Given the description of an element on the screen output the (x, y) to click on. 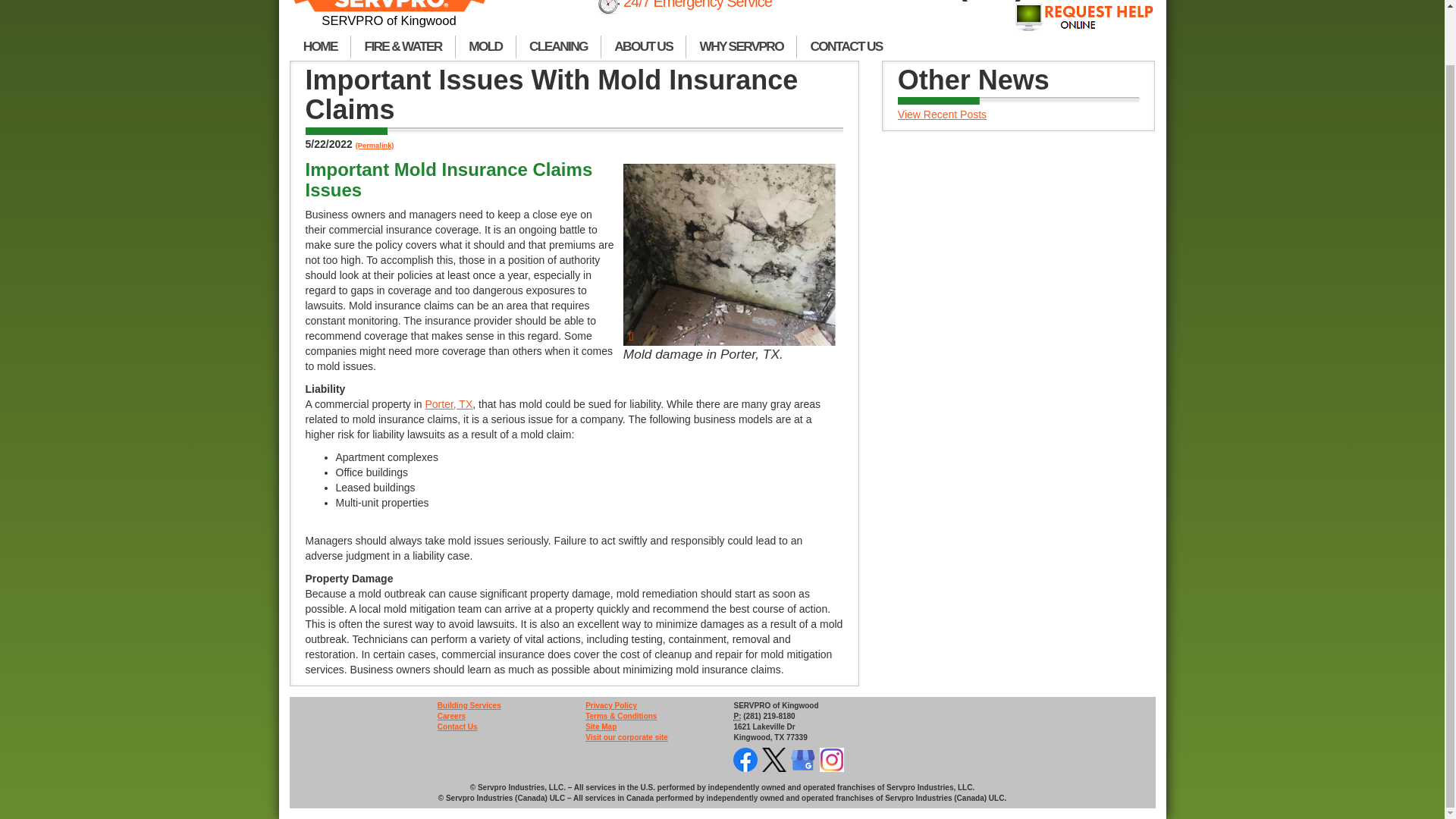
HOME (319, 47)
CLEANING (558, 47)
SERVPRO of Kingwood (389, 13)
MOLD (485, 47)
ABOUT US (643, 47)
